Given the description of an element on the screen output the (x, y) to click on. 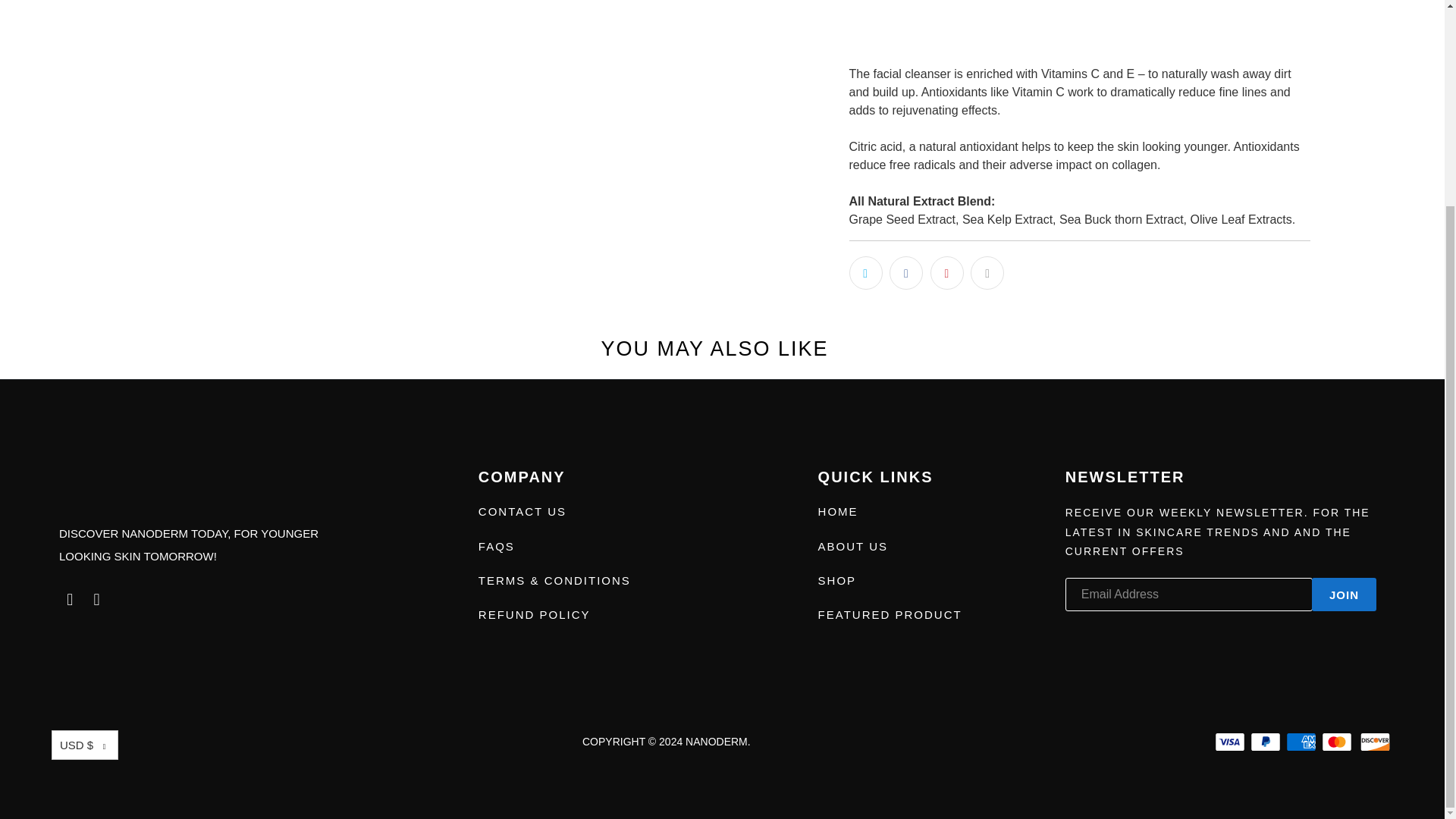
nanoderm on Instagram (96, 599)
Share this on Facebook (906, 272)
nanoderm on Facebook (70, 599)
Share this on Twitter (865, 272)
Email this to a friend (987, 272)
Join (1343, 594)
Share this on Pinterest (946, 272)
